Given the description of an element on the screen output the (x, y) to click on. 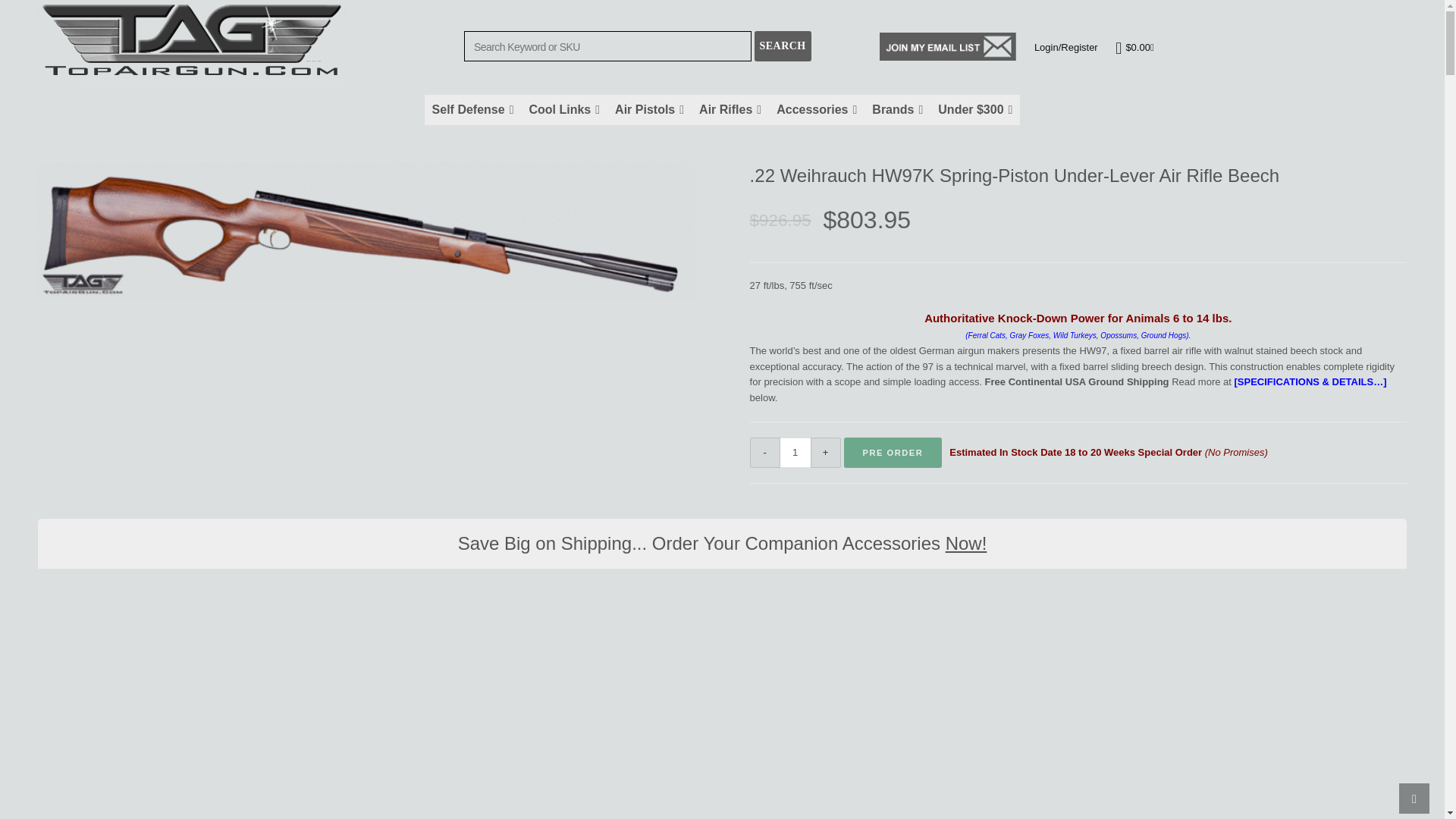
- (764, 452)
Search (782, 46)
Qty (795, 452)
1 (795, 452)
weihrauch-hw97k-walnut-thumb-hole-rifle (365, 230)
